Given the description of an element on the screen output the (x, y) to click on. 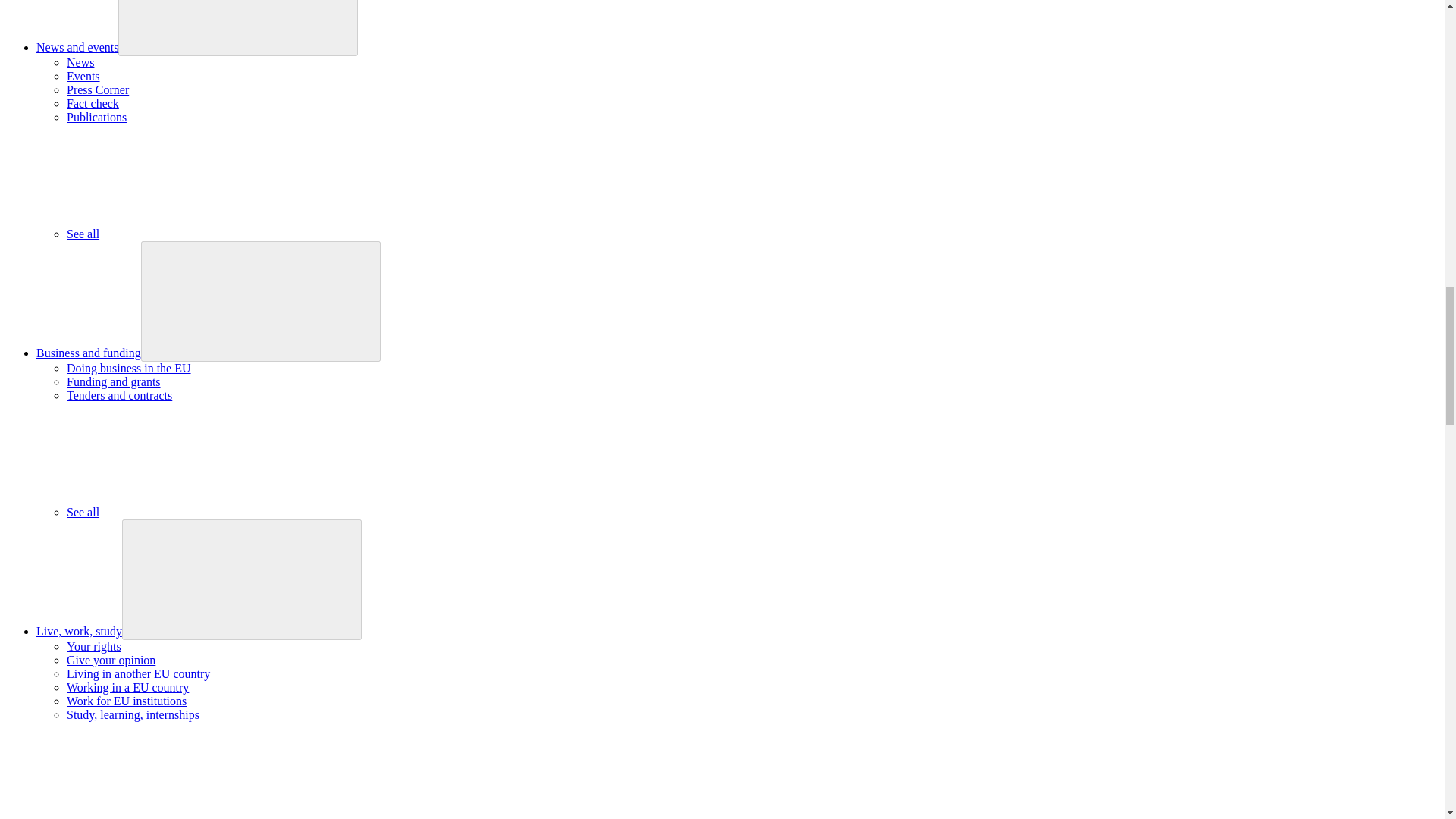
Events (83, 75)
Doing business in the EU (128, 367)
Publications (96, 116)
Business and funding (88, 352)
See all (196, 233)
News (80, 62)
Press Corner (97, 89)
Fact check (92, 103)
News and events (76, 47)
